Given the description of an element on the screen output the (x, y) to click on. 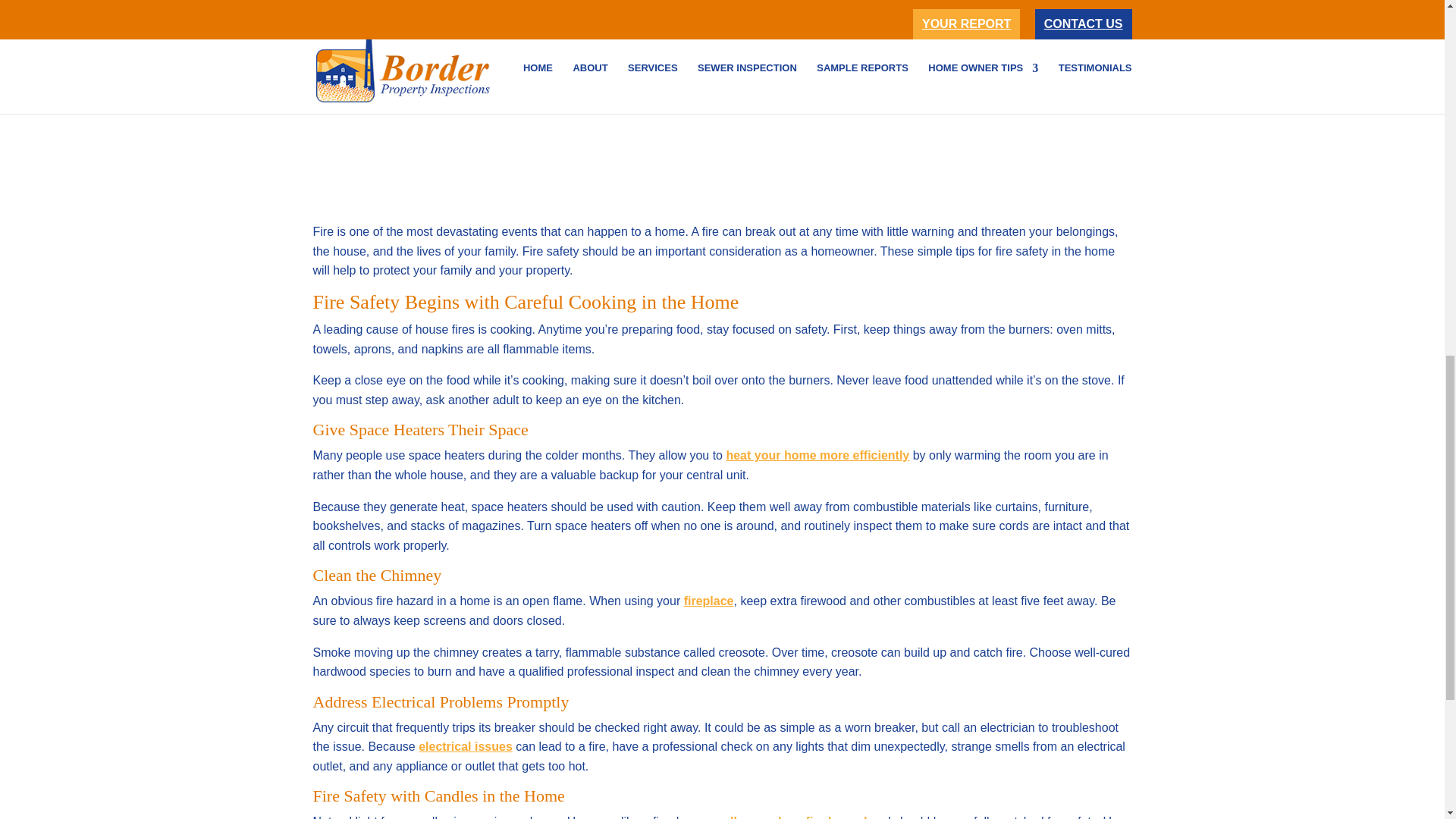
heat your home more efficiently (816, 454)
candles can be a fire hazard (785, 816)
fireplace (708, 600)
electrical issues (465, 746)
